Given the description of an element on the screen output the (x, y) to click on. 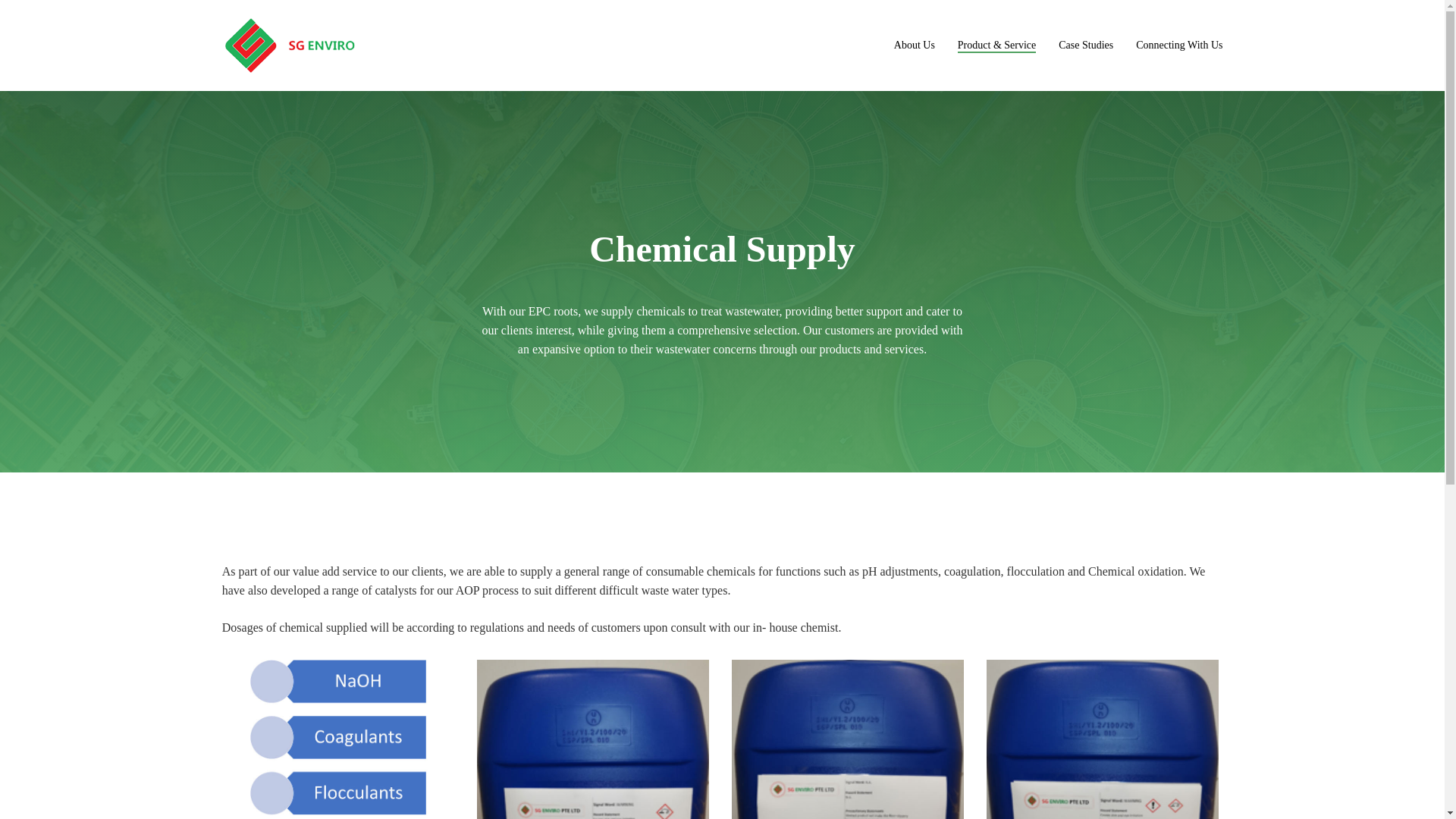
About Us (913, 45)
Case Studies (1085, 45)
Connecting With Us (1179, 45)
